Given the description of an element on the screen output the (x, y) to click on. 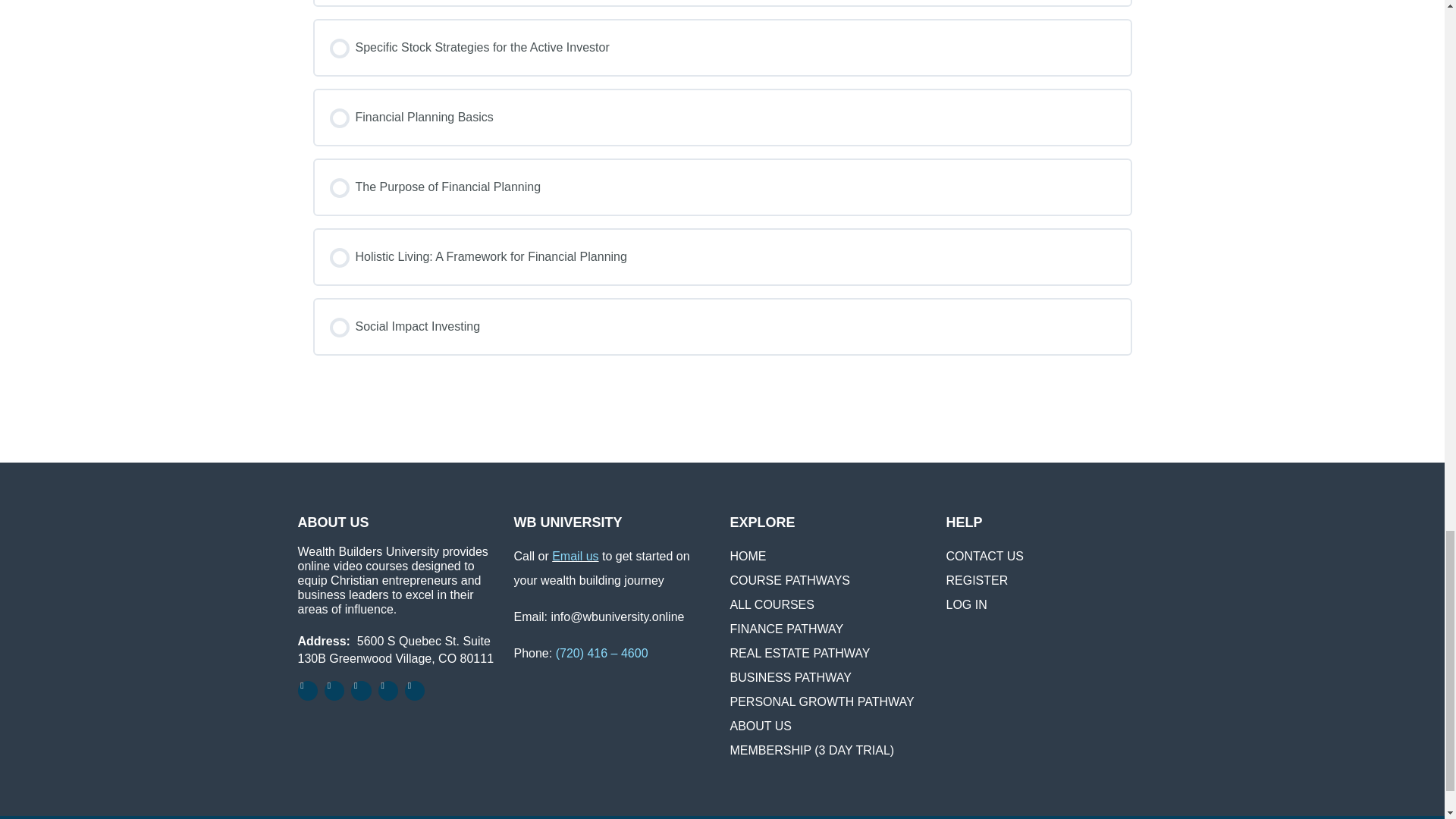
ALL COURSES (771, 604)
COURSE PATHWAYS (789, 580)
Email us (574, 555)
HOME (747, 555)
Specific Stock Strategies for the Active Investor (722, 47)
Social Impact Investing (722, 326)
Financial Planning Basics (722, 117)
Holistic Living: A Framework for Financial Planning (722, 256)
The Purpose of Financial Planning (722, 187)
